Given the description of an element on the screen output the (x, y) to click on. 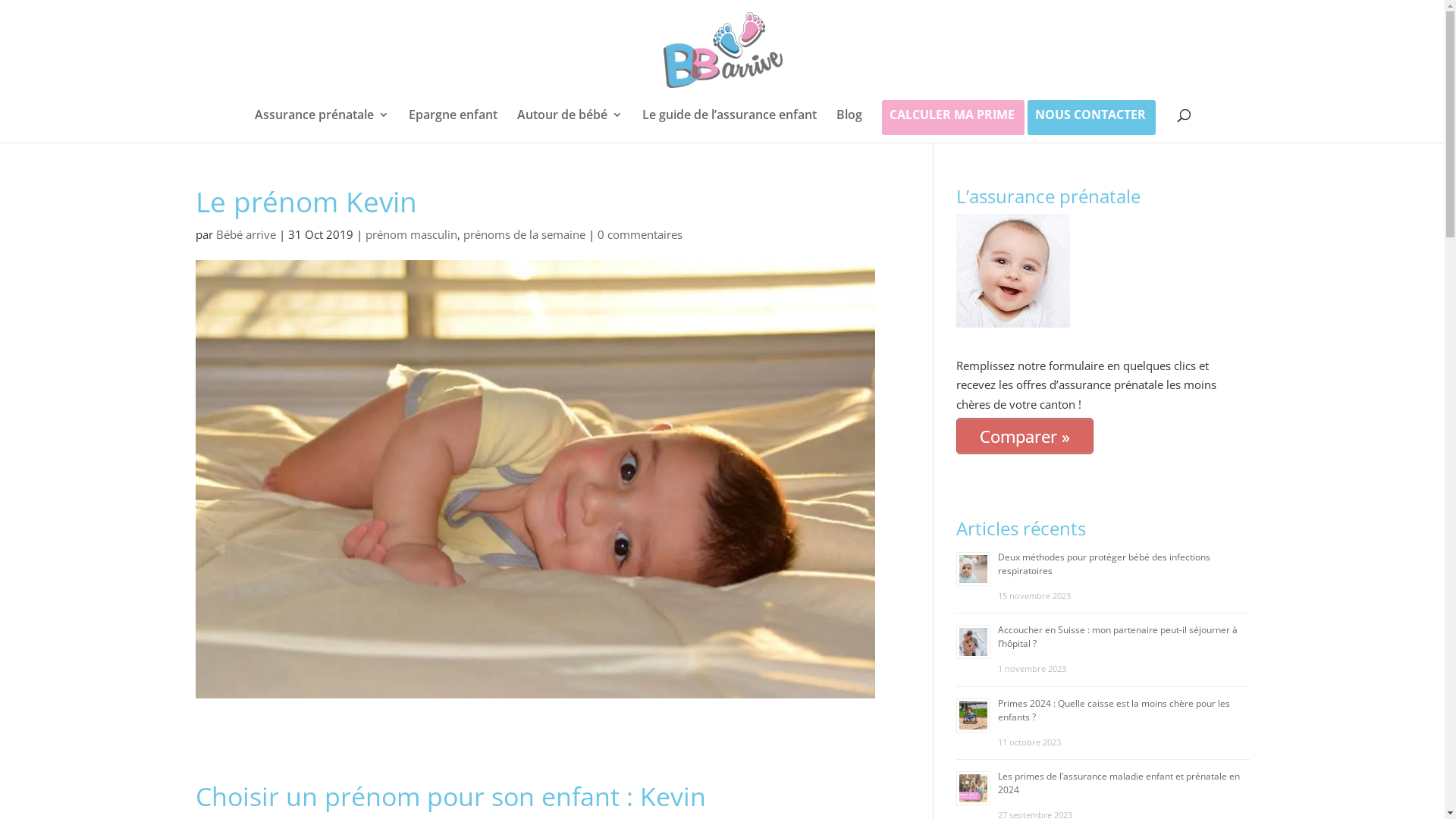
CALCULER MA PRIME Element type: text (950, 118)
Blog Element type: text (848, 123)
Epargne enfant Element type: text (451, 123)
0 commentaires Element type: text (639, 233)
NOUS CONTACTER Element type: text (1089, 118)
